Given the description of an element on the screen output the (x, y) to click on. 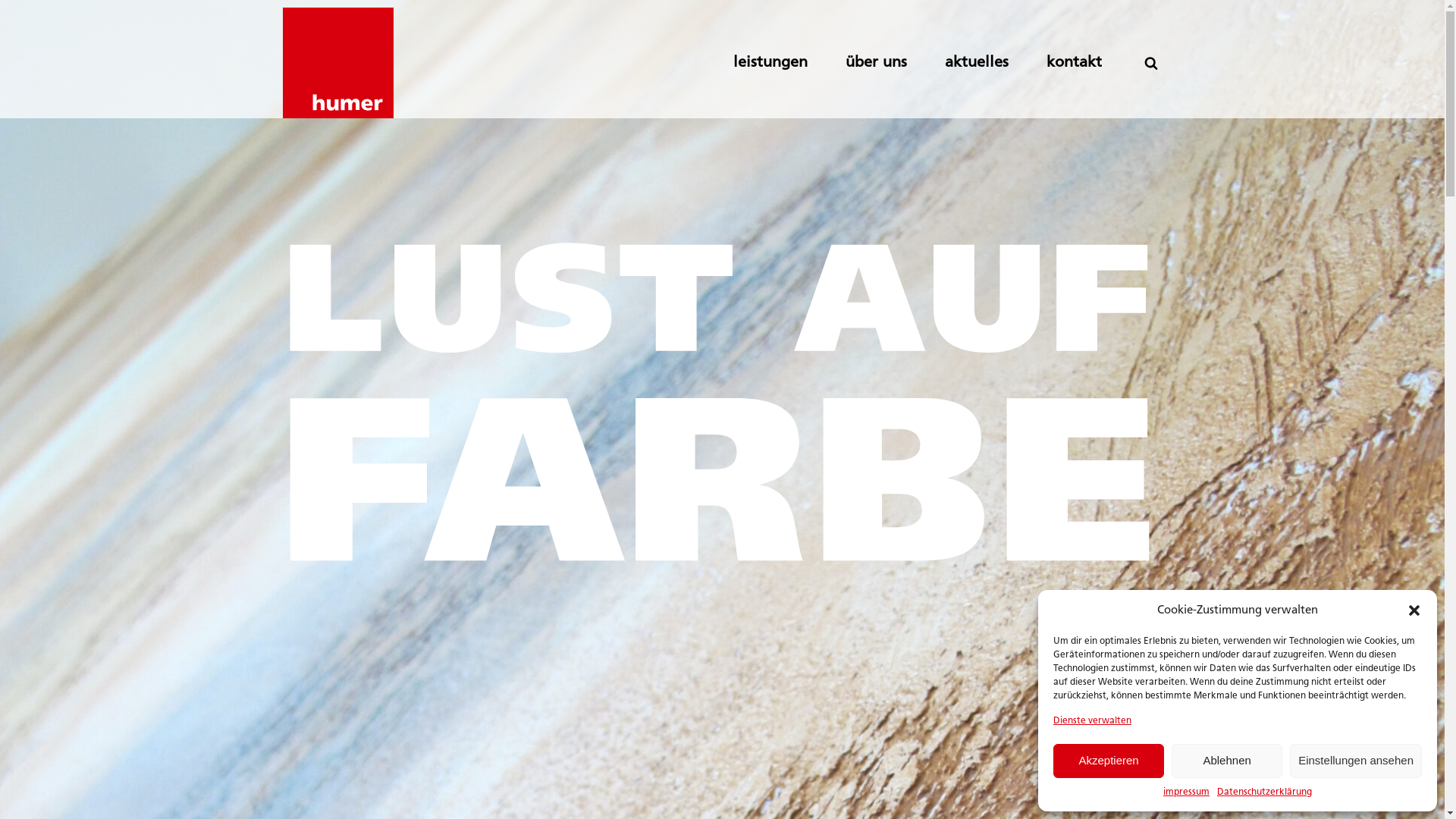
Dienste verwalten Element type: text (1092, 721)
impressum Element type: text (1186, 792)
Akzeptieren Element type: text (1108, 760)
Einstellungen ansehen Element type: text (1355, 760)
kontakt Element type: text (1092, 62)
Ablehnen Element type: text (1226, 760)
leistungen Element type: text (788, 62)
Suche Element type: text (23, 9)
aktuelles Element type: text (995, 62)
